Given the description of an element on the screen output the (x, y) to click on. 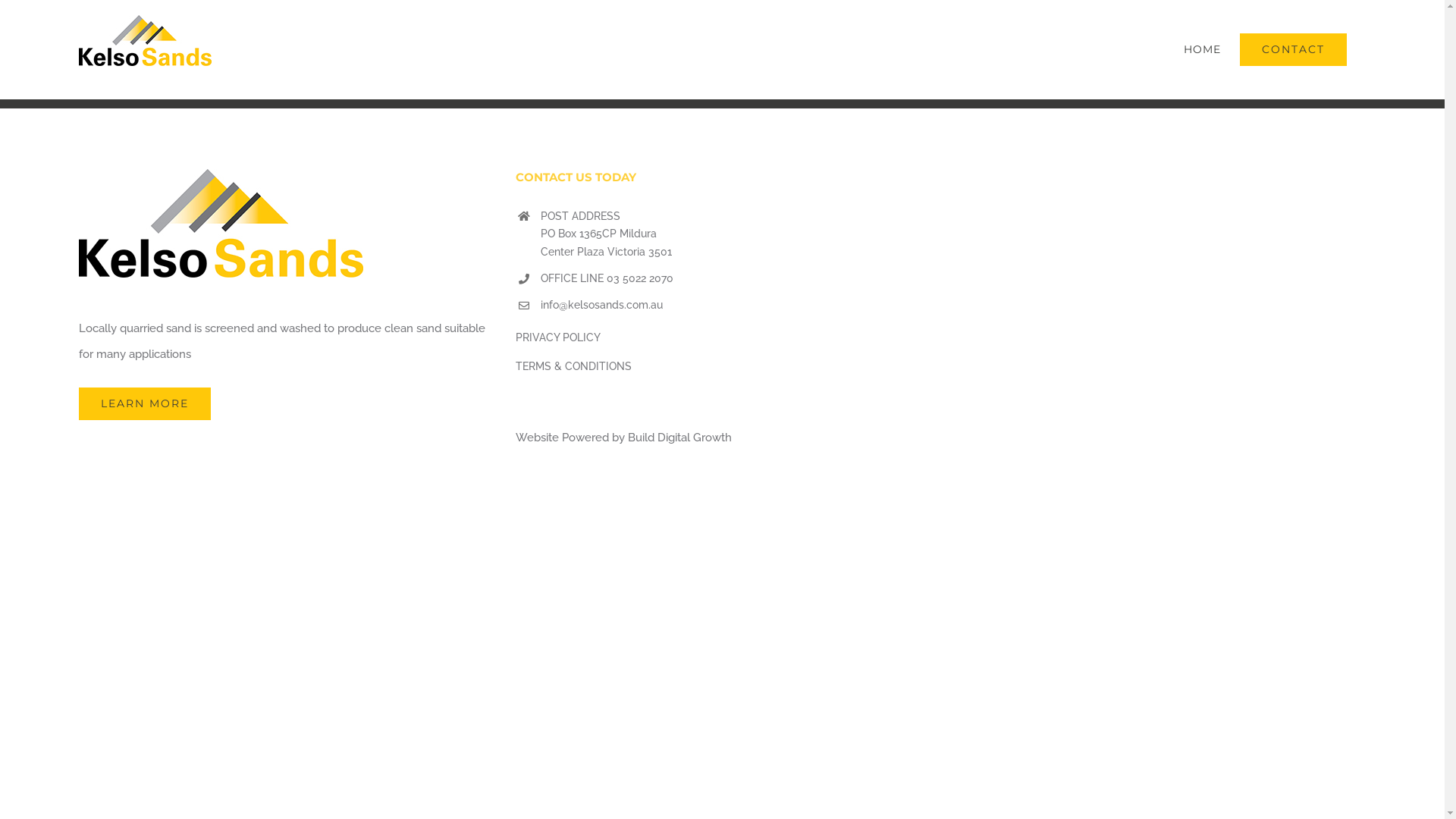
HOME Element type: text (1201, 49)
PRIVACY POLICY Element type: text (557, 337)
CONTACT Element type: text (1292, 49)
LEARN MORE Element type: text (144, 403)
info@kelsosands.com.au Element type: text (734, 305)
TERMS & CONDITIONS Element type: text (573, 366)
Website Powered by Build Digital Growth Element type: text (623, 437)
